Given the description of an element on the screen output the (x, y) to click on. 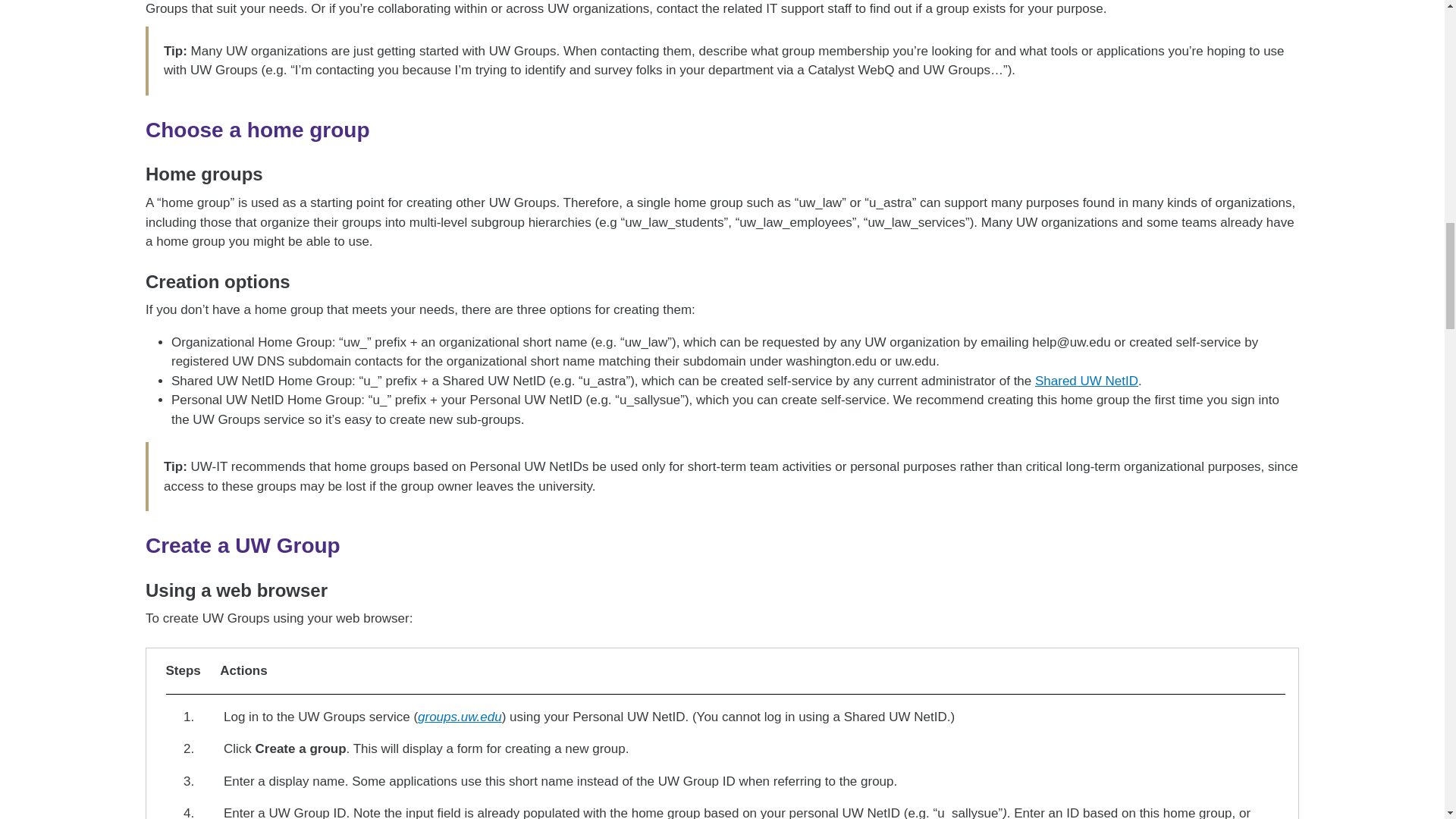
Shared UW NetIDs (1086, 380)
